Given the description of an element on the screen output the (x, y) to click on. 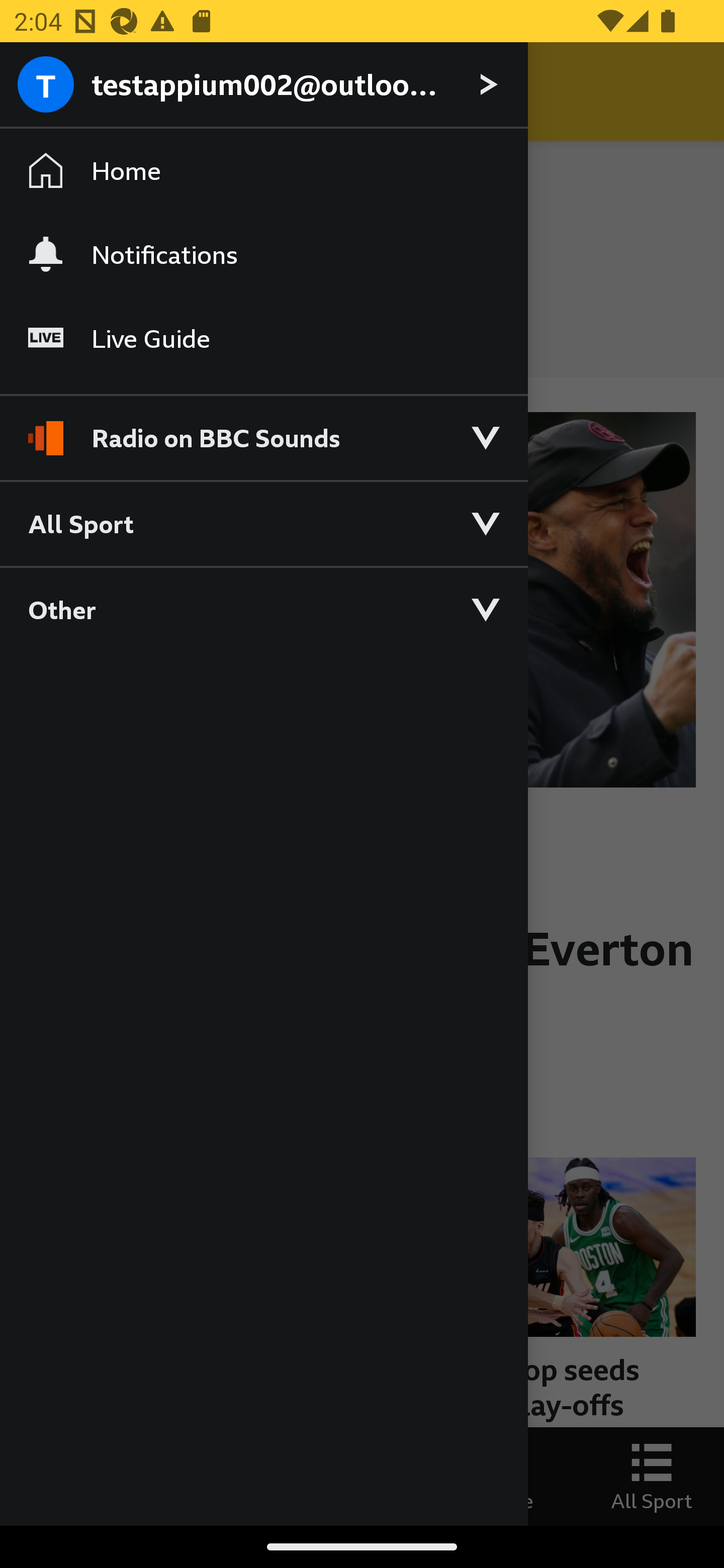
testappium002@outlook.com (263, 85)
Home (263, 170)
Notifications (263, 253)
Live Guide (263, 338)
Radio on BBC Sounds (263, 429)
All Sport (263, 522)
Other (263, 609)
